Given the description of an element on the screen output the (x, y) to click on. 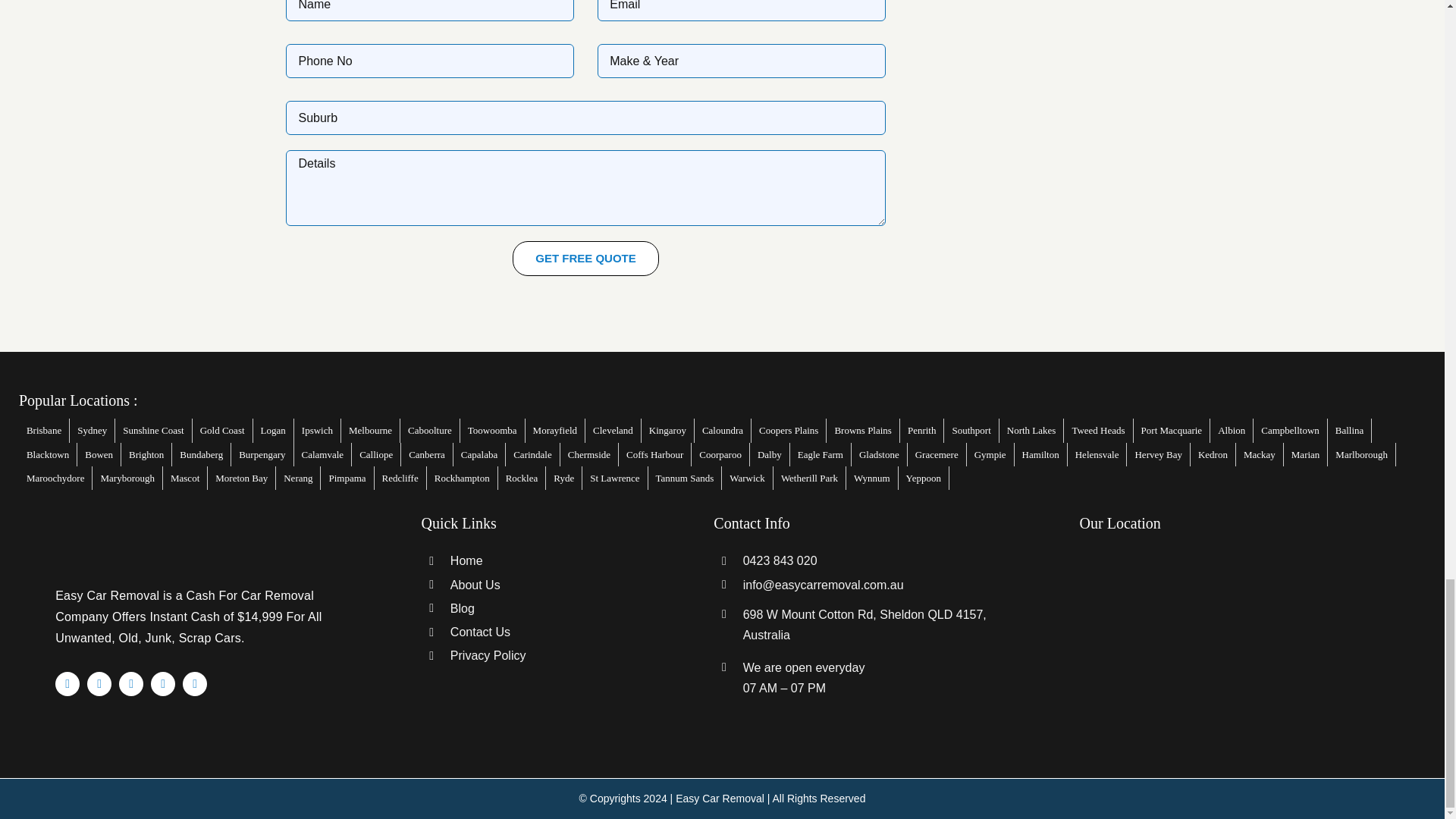
Get Free Quote (585, 258)
